Given the description of an element on the screen output the (x, y) to click on. 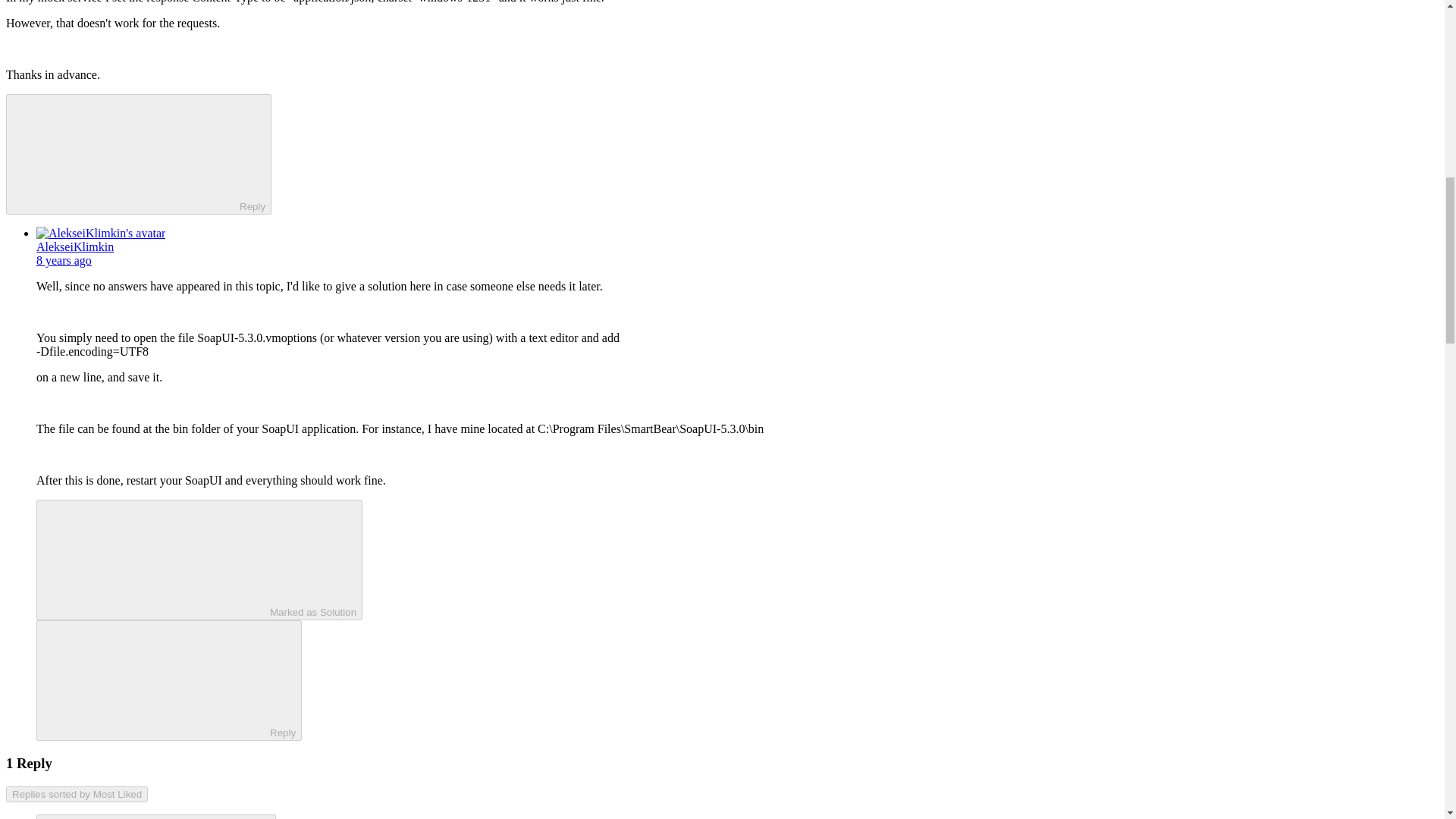
Reply (125, 152)
ReplyReply (168, 680)
Replies sorted by Most Liked (76, 794)
Reply (155, 679)
8 years ago (63, 259)
AlekseiKlimkin (74, 246)
ReplyReply (137, 154)
Marked as Solution (199, 559)
May 3, 2017 at 3:20 PM (63, 259)
